Given the description of an element on the screen output the (x, y) to click on. 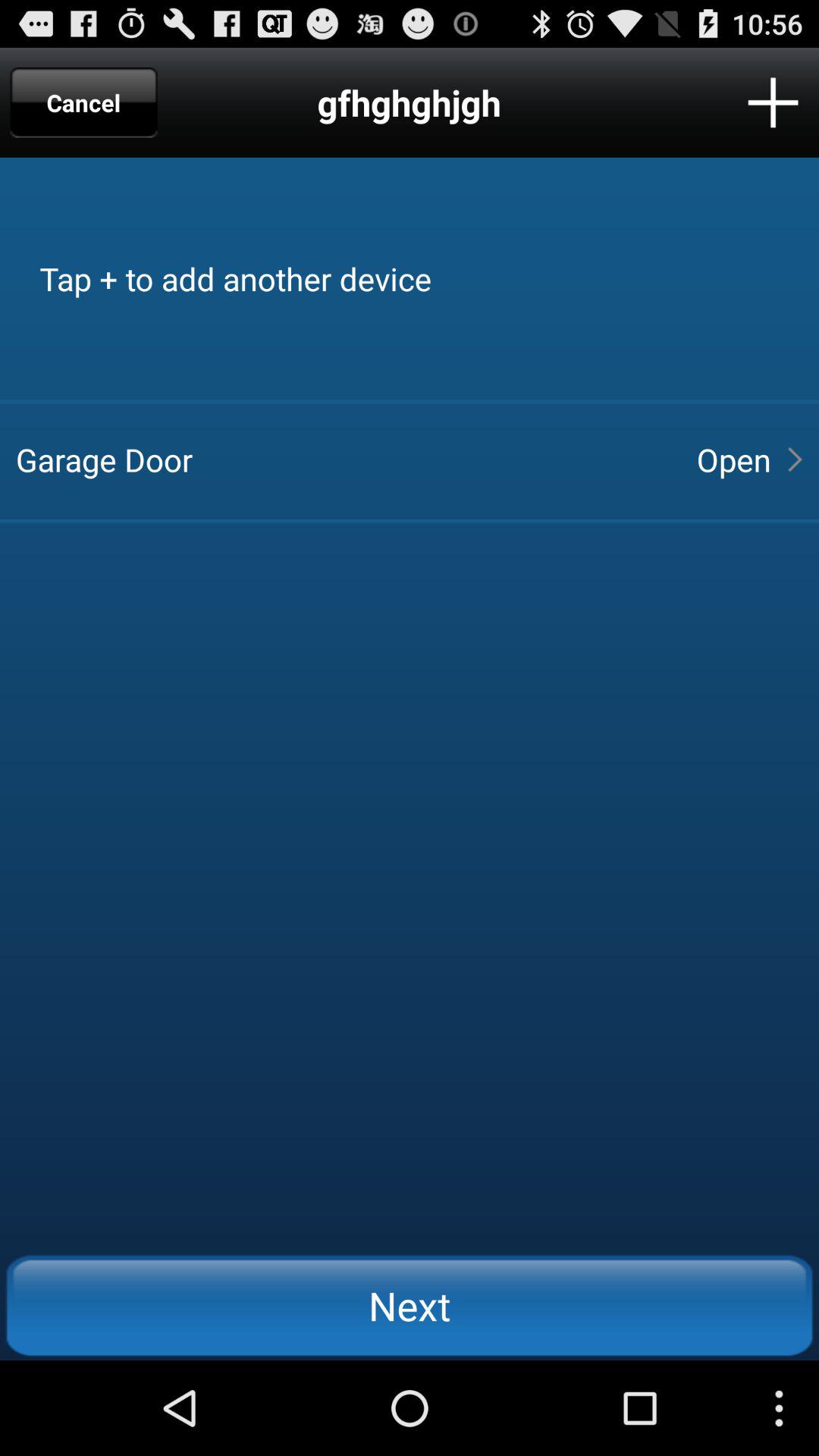
scroll until cancel button (83, 102)
